Given the description of an element on the screen output the (x, y) to click on. 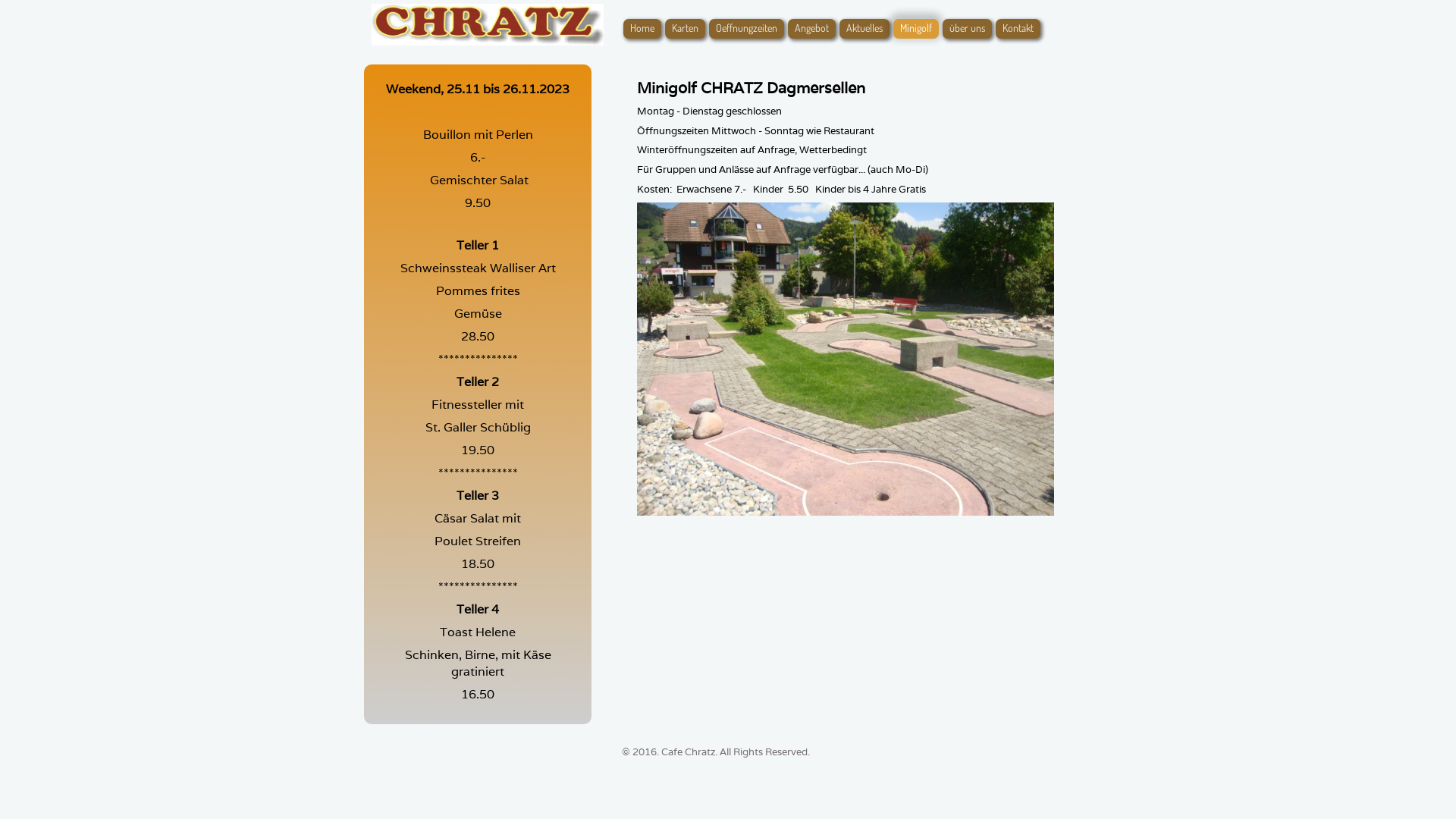
Kontakt Element type: text (1017, 28)
Minigolf Element type: text (915, 28)
Home Element type: text (642, 28)
Angebot Element type: text (811, 28)
Aktuelles Element type: text (864, 28)
Oeffnungzeiten Element type: text (746, 28)
Karten Element type: text (685, 28)
